Given the description of an element on the screen output the (x, y) to click on. 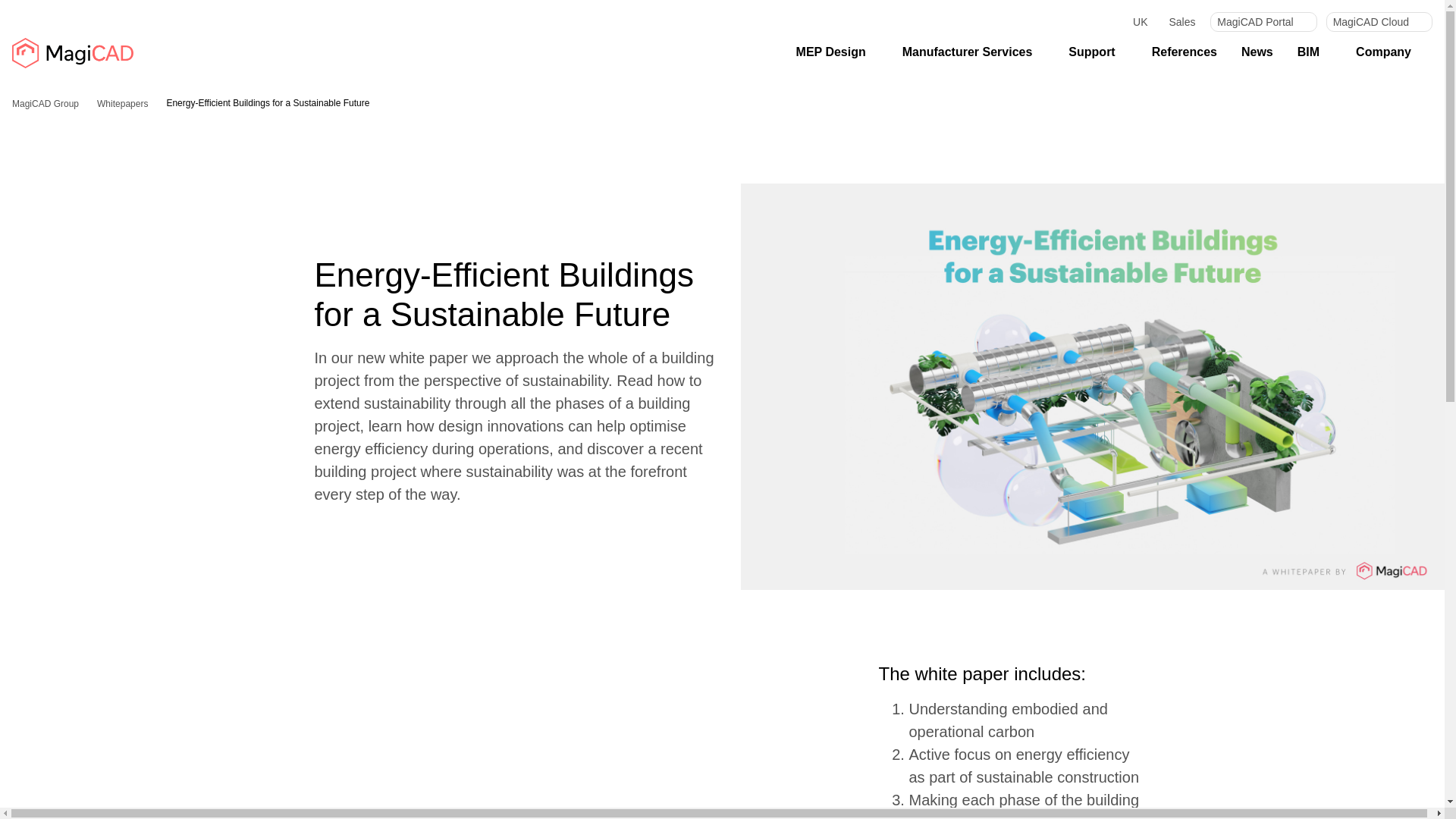
MagiCAD Cloud (1379, 21)
MEP Design (836, 51)
UK (1134, 22)
MagiCAD Group (72, 52)
MagiCAD Portal (1262, 21)
Sales (1181, 22)
